Given the description of an element on the screen output the (x, y) to click on. 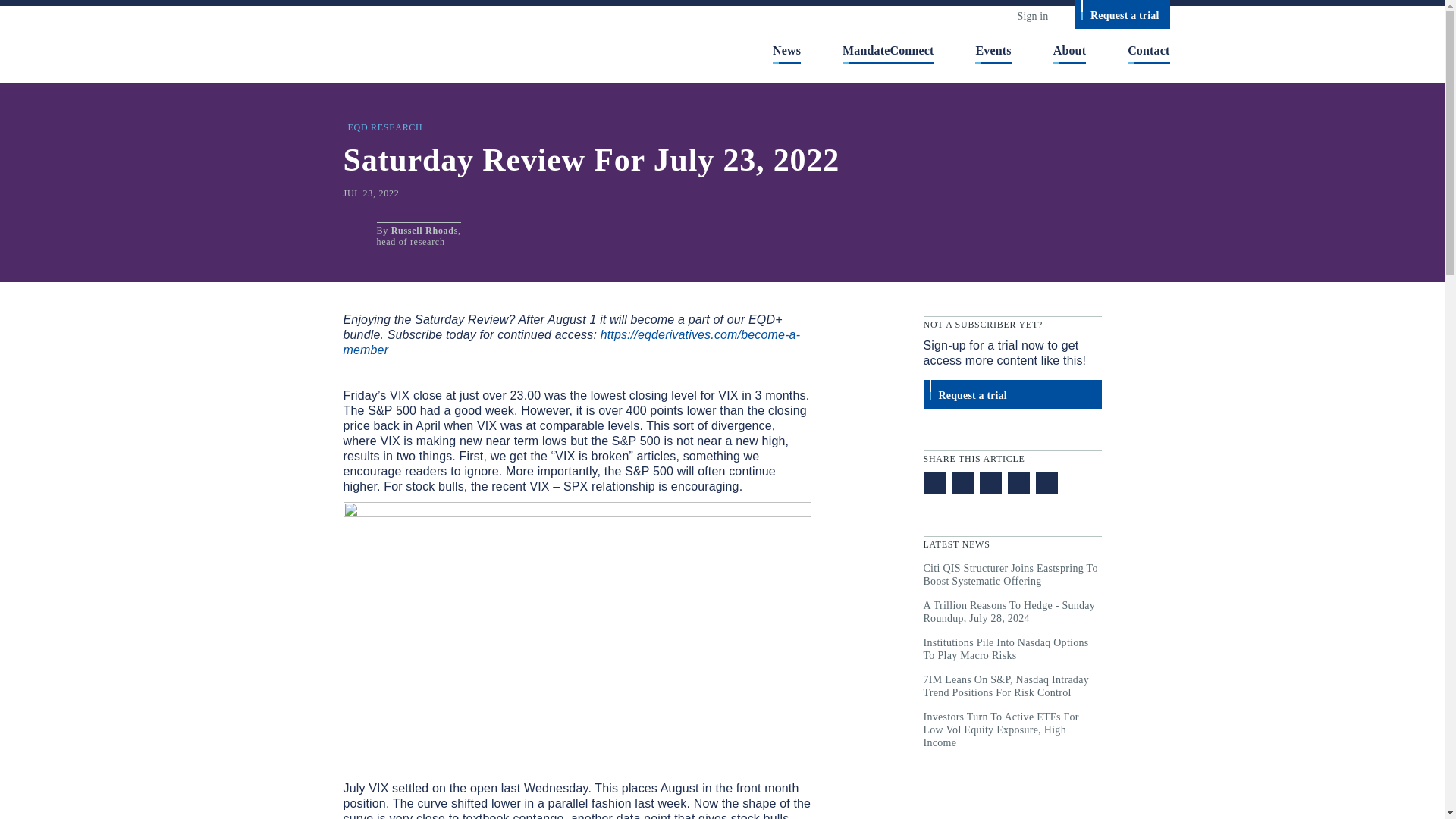
Contact (1147, 49)
Share this page on Linkedin (990, 483)
Share this page on Facebook (1018, 483)
Events (992, 49)
EQD RESEARCH (382, 127)
Share this page on Linkedin (990, 483)
A Trillion Reasons To Hedge - Sunday Roundup, July 28, 2024 (1012, 611)
Share this page via Whatsapp (933, 483)
About (1069, 49)
Share this page on X (961, 483)
Russell Rhoads (424, 230)
Institutions Pile Into Nasdaq Options To Play Macro Risks (1012, 648)
Sign in (1032, 15)
News (786, 49)
Request a trial (1012, 394)
